Given the description of an element on the screen output the (x, y) to click on. 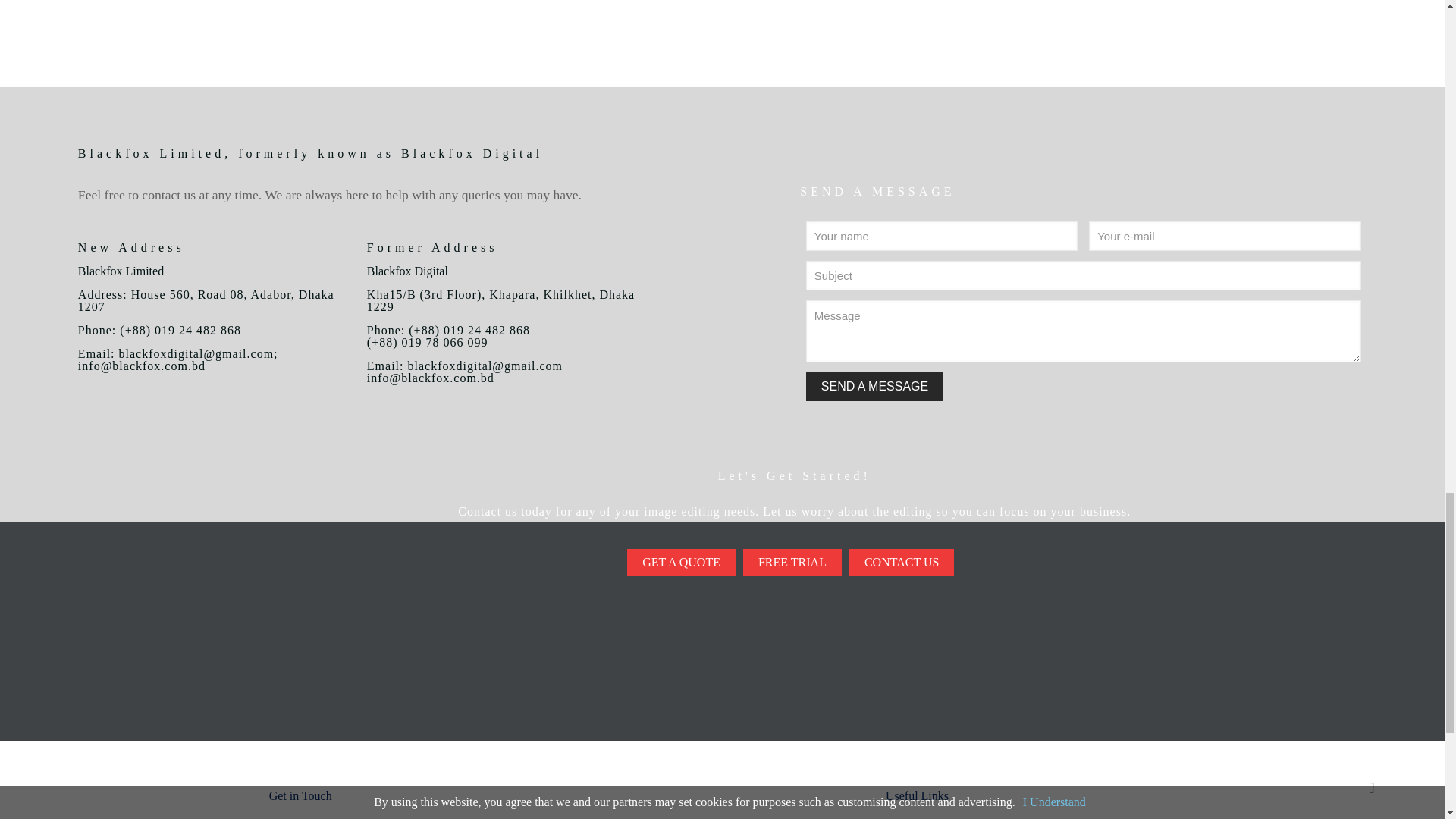
SEND A MESSAGE (874, 386)
GET A QUOTE (681, 562)
FREE TRIAL (791, 562)
SEND A MESSAGE (874, 386)
CONTACT US (900, 562)
